Given the description of an element on the screen output the (x, y) to click on. 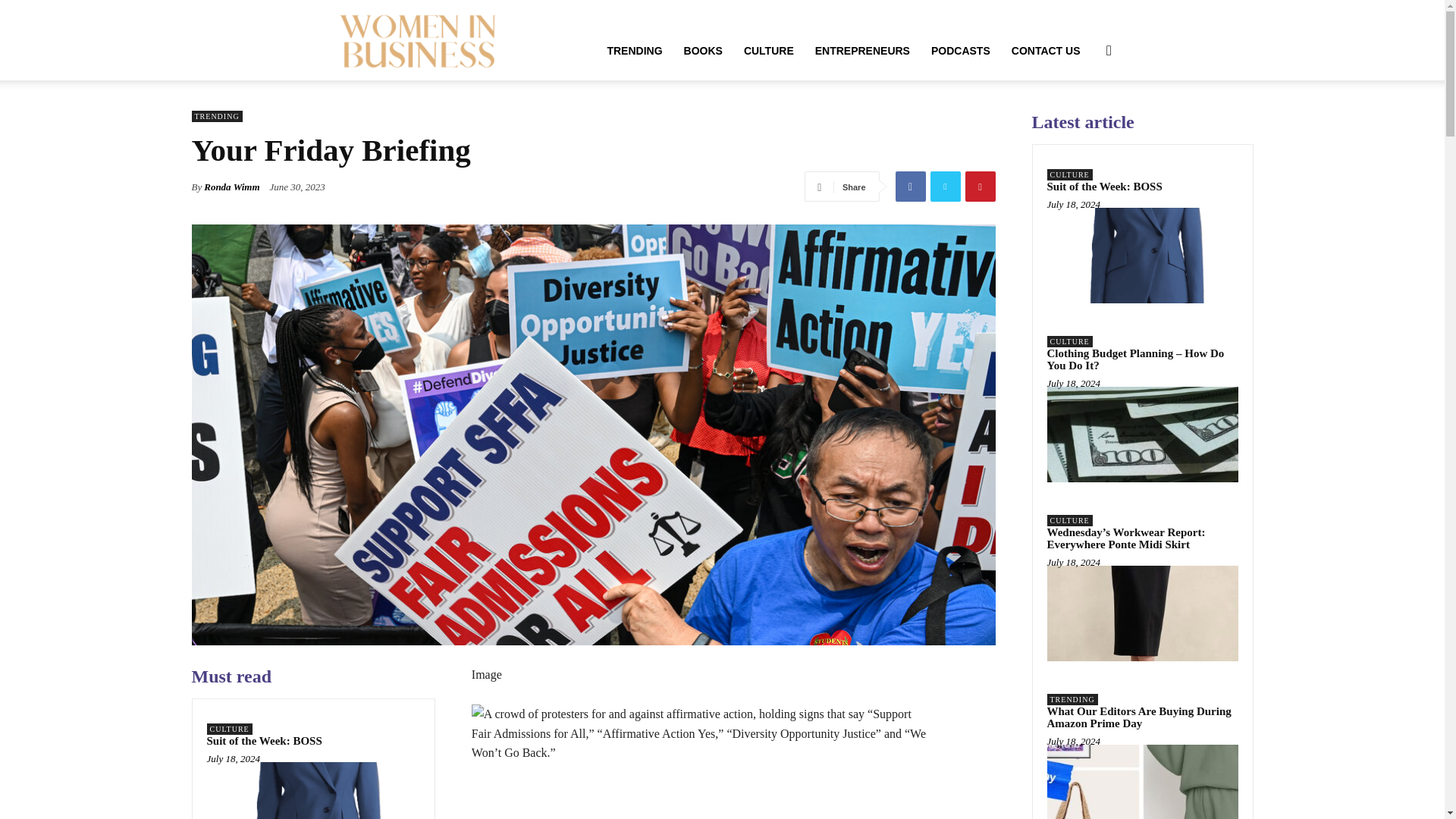
BOOKS (702, 50)
Ronda Wimm (231, 186)
CULTURE (769, 50)
ENTREPRENEURS (862, 50)
Suit of the Week: BOSS (312, 790)
Suit of the Week: BOSS (263, 740)
Search (1085, 122)
TRENDING (633, 50)
CULTURE (228, 728)
PODCASTS (960, 50)
TRENDING (215, 116)
Women In Business Mag (417, 39)
Suit of the Week: BOSS (263, 740)
CONTACT US (1045, 50)
